Given the description of an element on the screen output the (x, y) to click on. 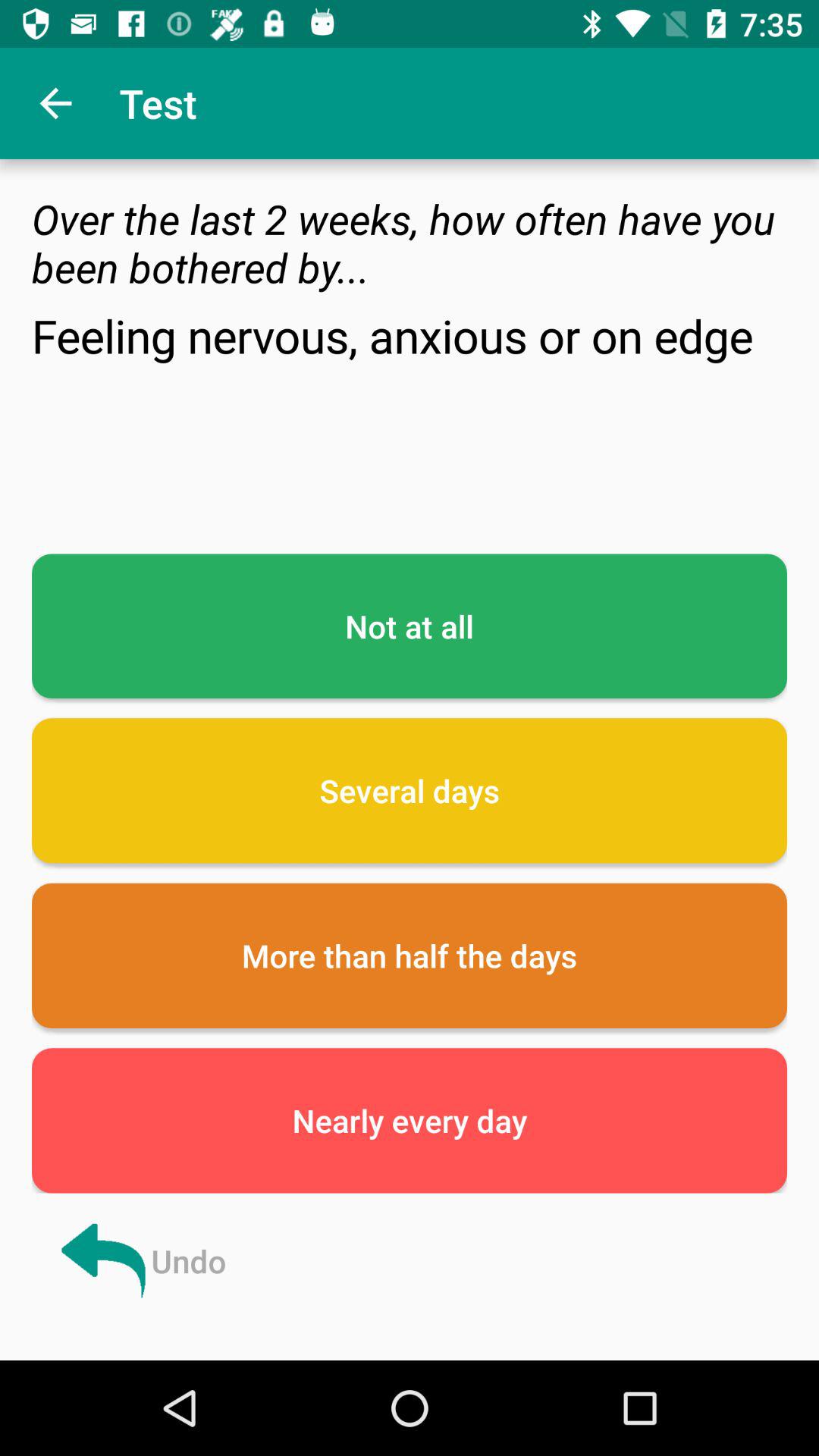
press icon below more than half (409, 1120)
